Given the description of an element on the screen output the (x, y) to click on. 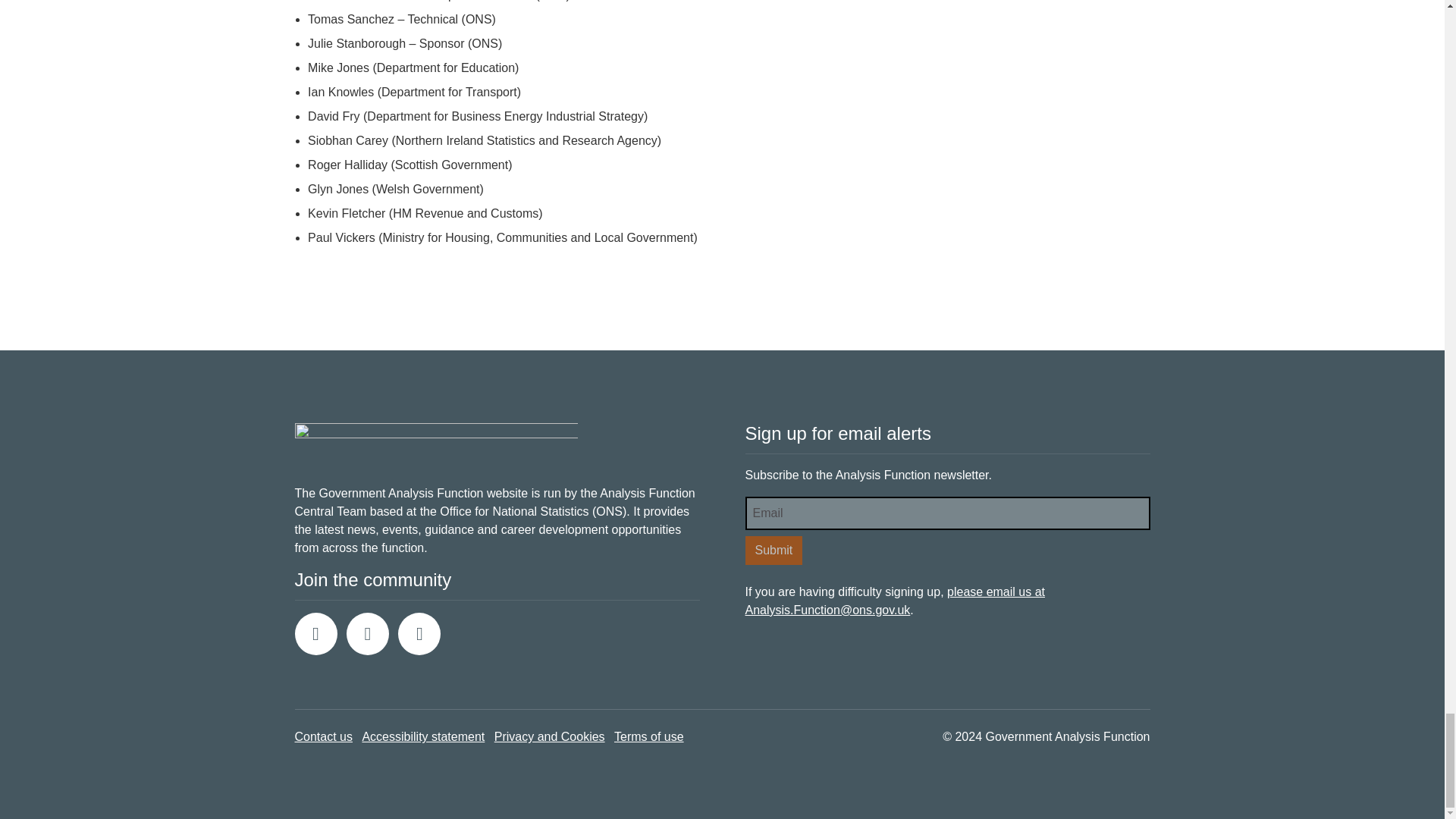
Submit (773, 550)
Accessibility statement (422, 736)
Contact us (323, 736)
YouTube (367, 633)
LinkedIn (419, 633)
Privacy and Cookies (550, 736)
Submit (773, 550)
Twitter (315, 633)
